Given the description of an element on the screen output the (x, y) to click on. 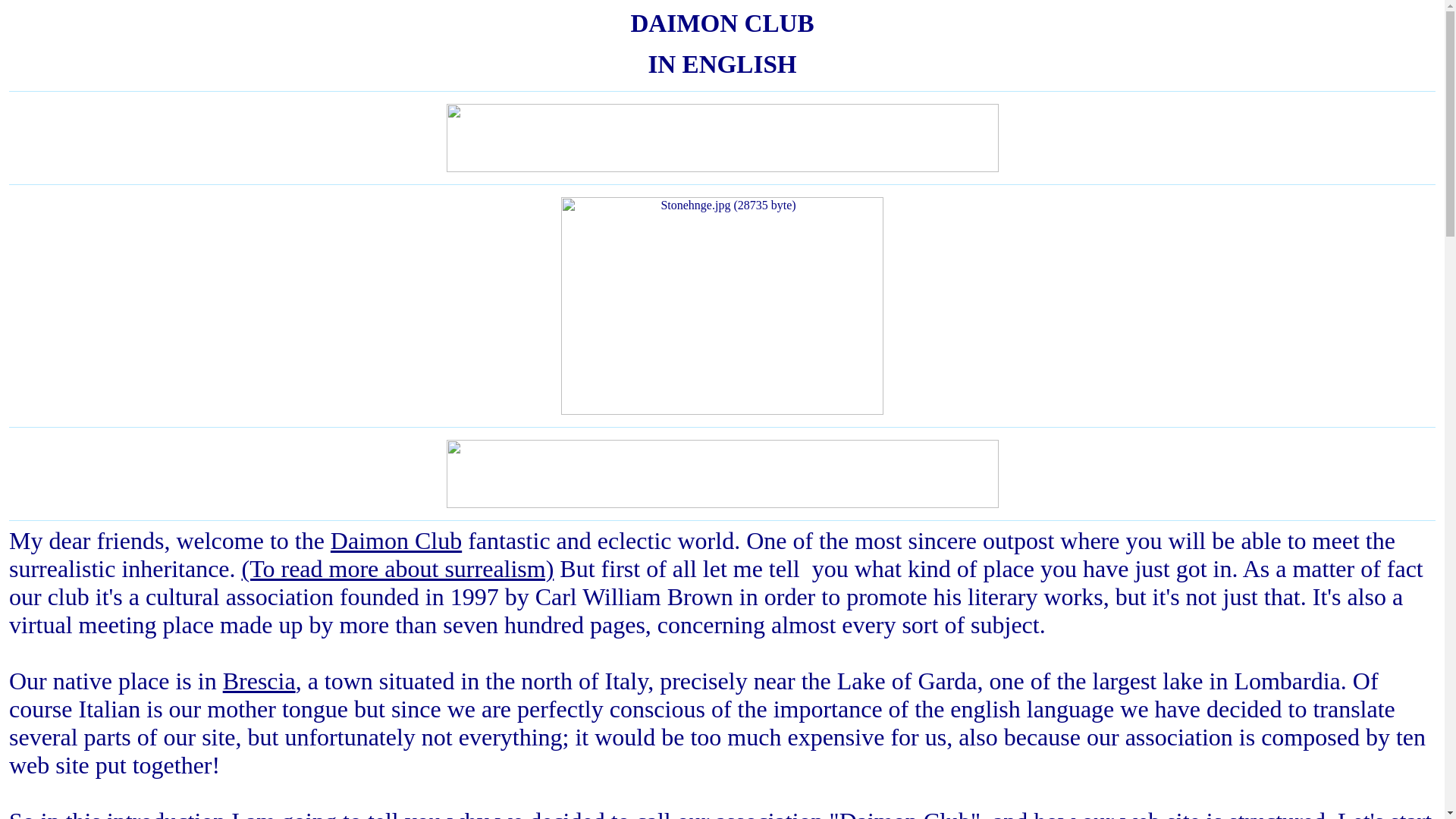
Daimon Club (395, 540)
Brescia (258, 680)
English culture news (721, 503)
The World of English Blog and Resources (721, 167)
